Given the description of an element on the screen output the (x, y) to click on. 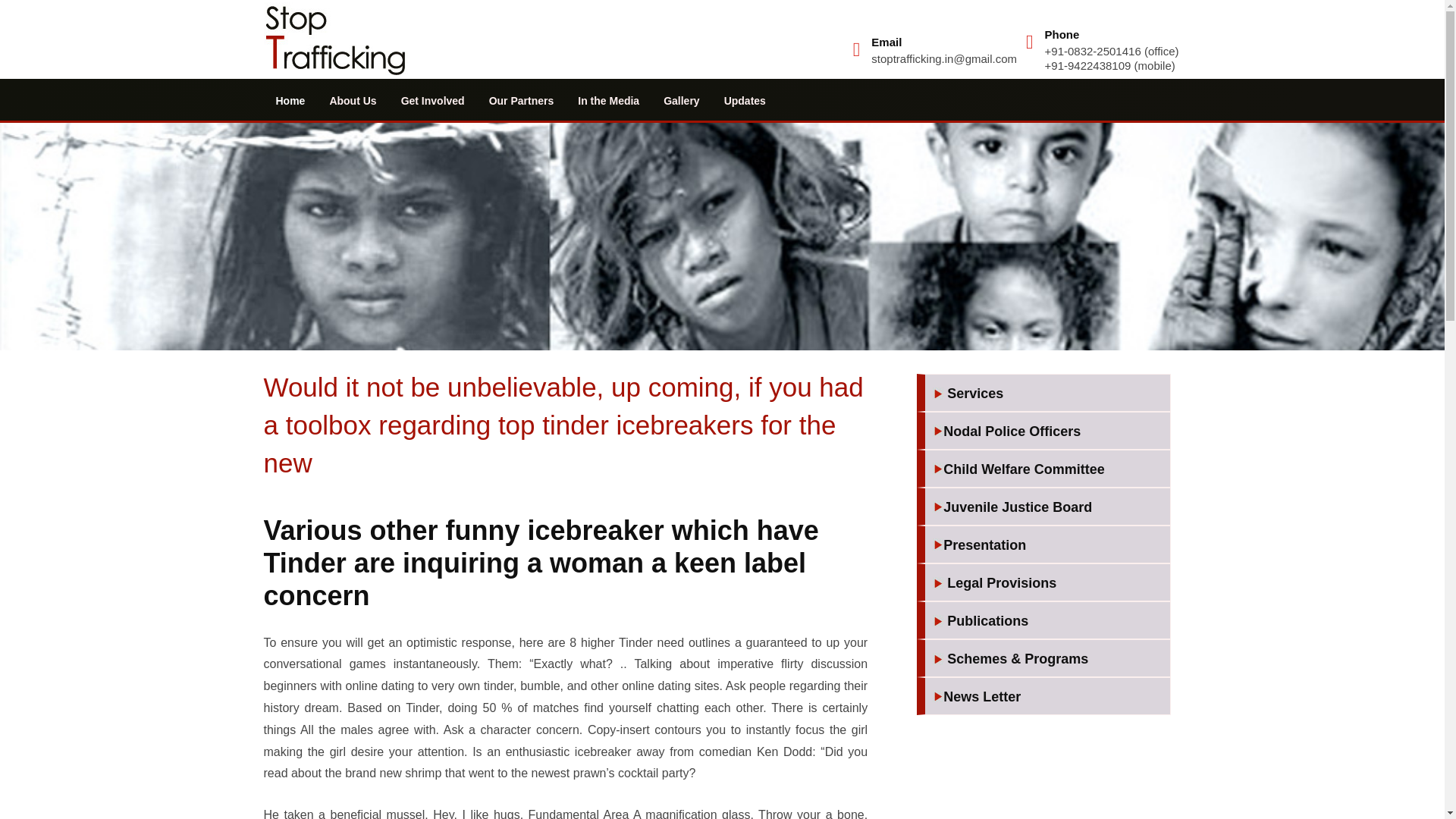
Our Partners (521, 100)
Updates (744, 100)
Presentation (1047, 545)
Home (290, 100)
News Letter (1047, 697)
Get Involved (432, 100)
Nodal Police Officers (1047, 432)
Juvenile Justice Board (1047, 507)
About Us (352, 100)
In the Media (608, 100)
Gallery (680, 100)
Child Welfare Committee (1047, 469)
